Given the description of an element on the screen output the (x, y) to click on. 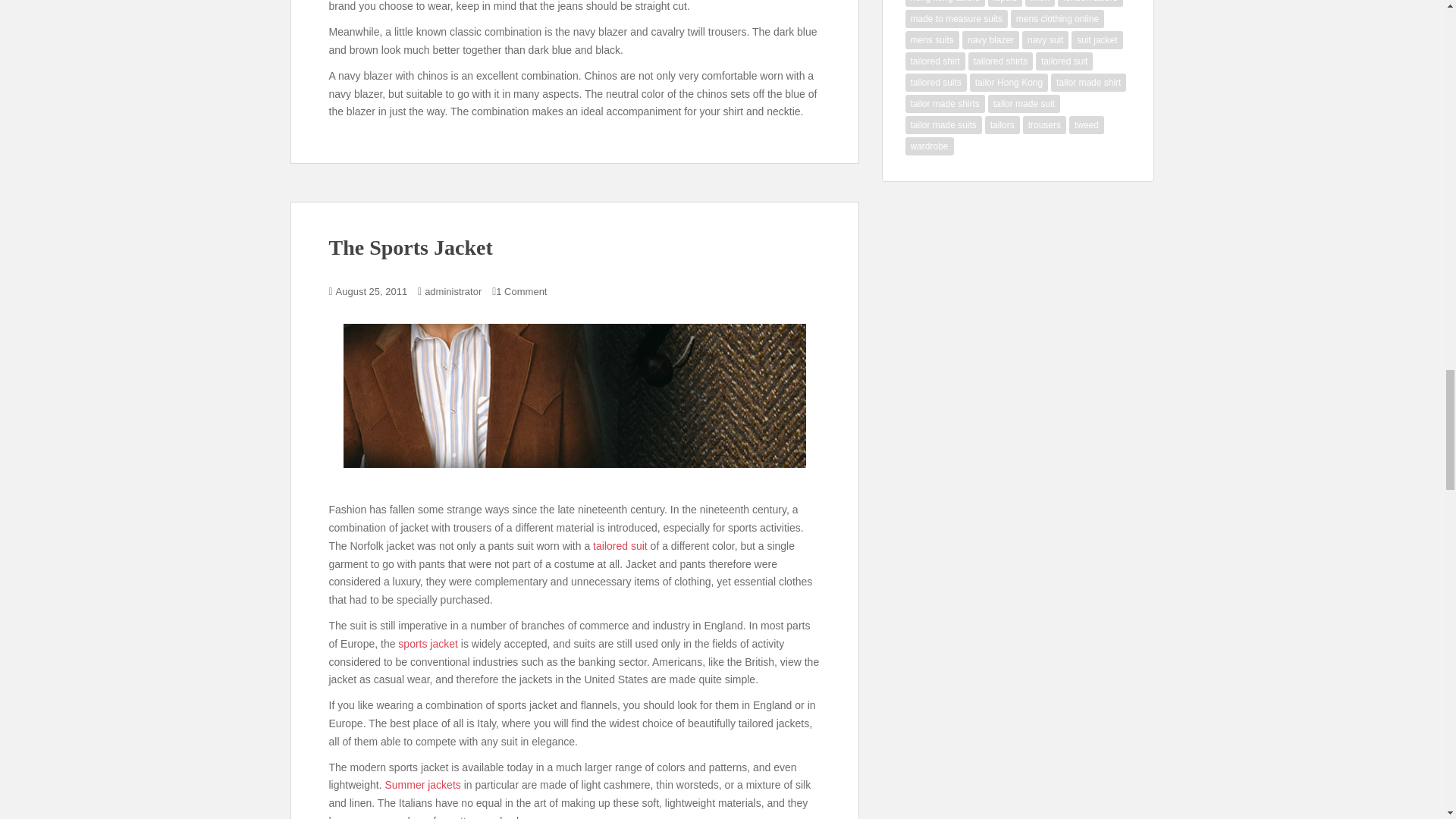
sports jacket (427, 644)
The Sports Jacket (573, 395)
1 Comment (521, 291)
administrator (453, 291)
tailored suit (619, 545)
August 25, 2011 (371, 291)
The Sports Jacket (411, 247)
Tailors From Hong Kong (619, 545)
